Given the description of an element on the screen output the (x, y) to click on. 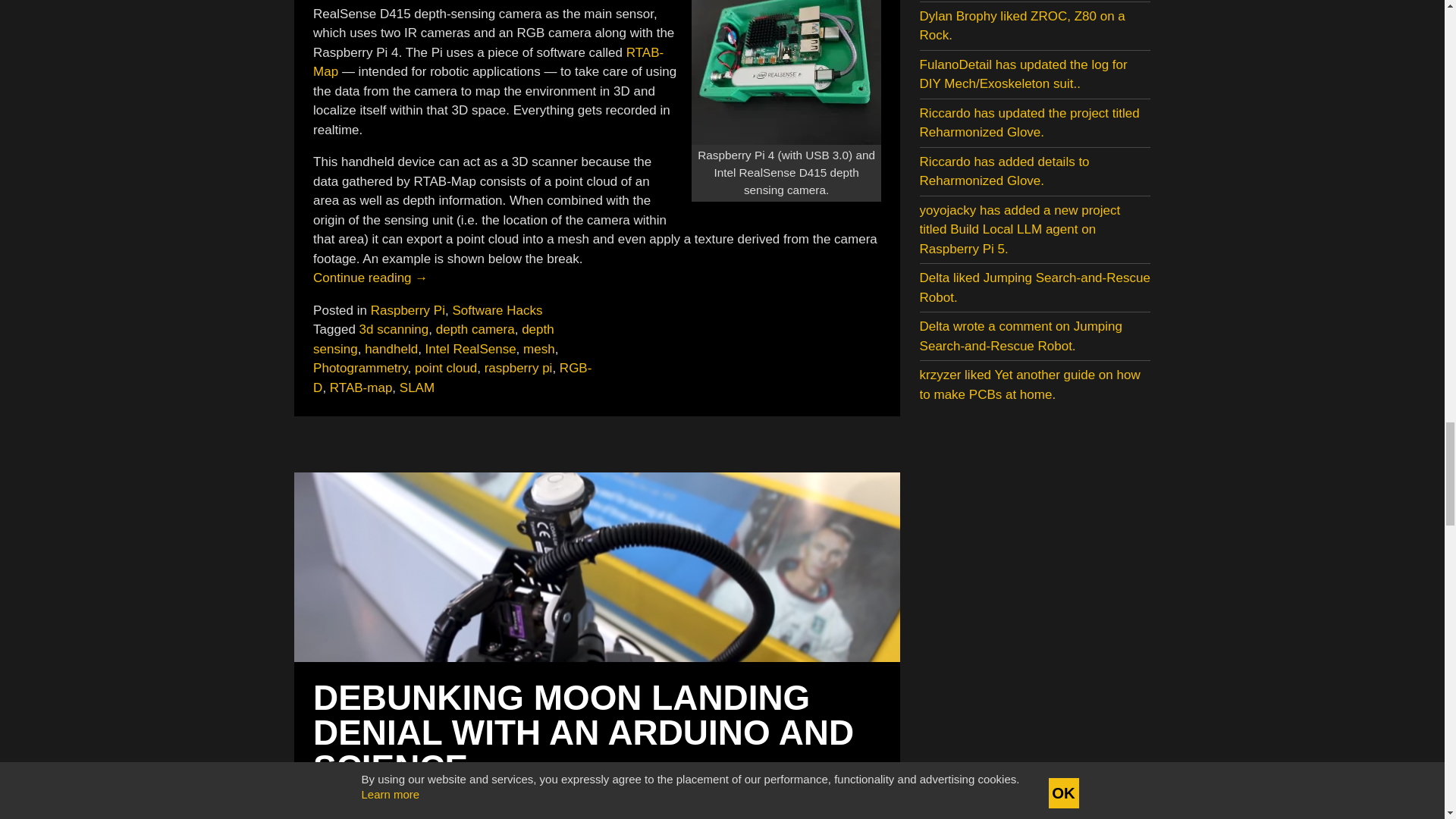
Posts by Dan Maloney (477, 794)
February 20, 2018 - 1:00 am (366, 794)
